Given the description of an element on the screen output the (x, y) to click on. 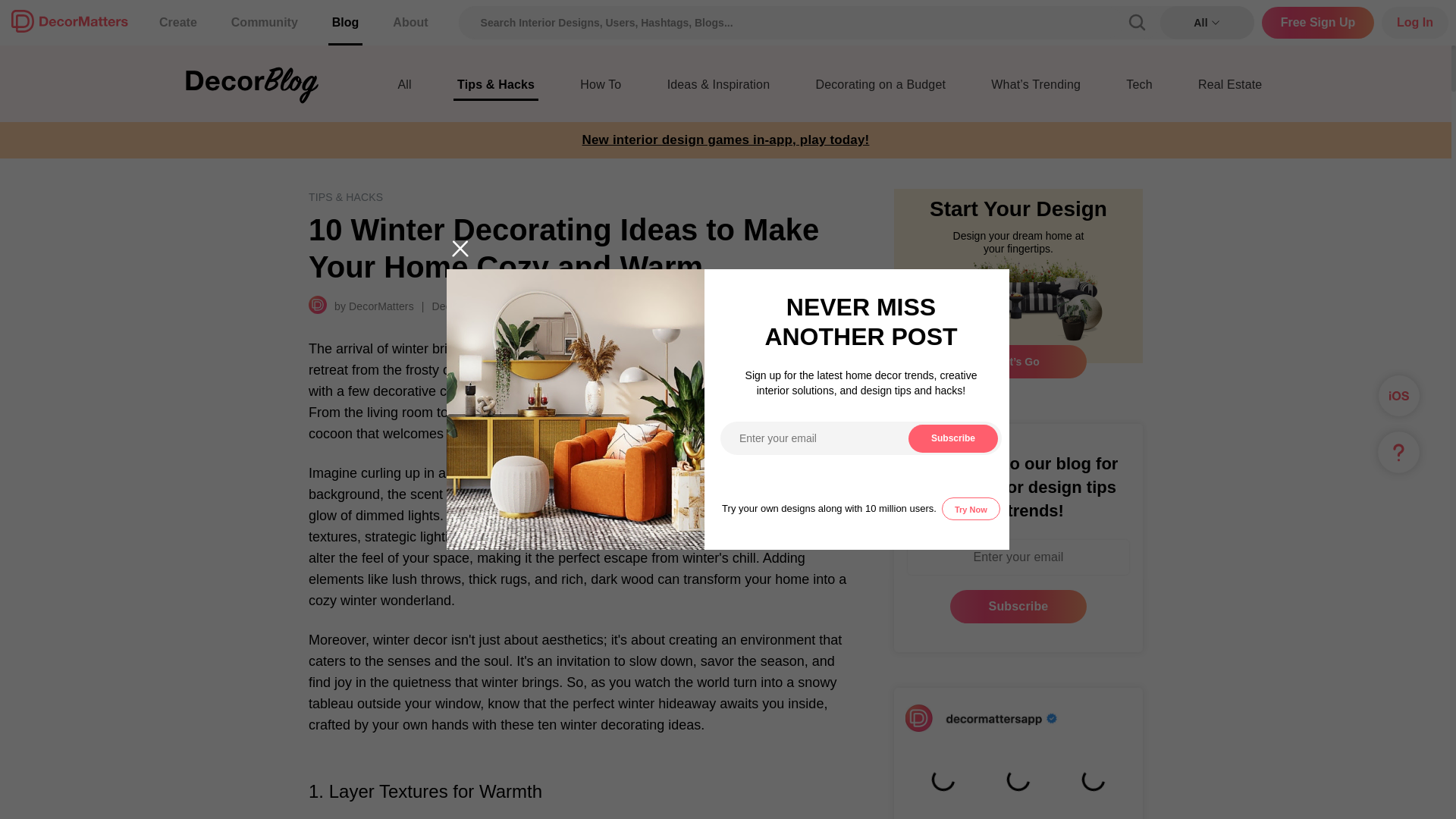
Tech (1139, 89)
Decorating on a Budget (879, 89)
All (404, 89)
Subscribe (1018, 606)
How To (600, 89)
New interior design games in-app, play today! (725, 140)
Real Estate (1229, 89)
Log In (1414, 22)
Subscribe (1018, 606)
